Given the description of an element on the screen output the (x, y) to click on. 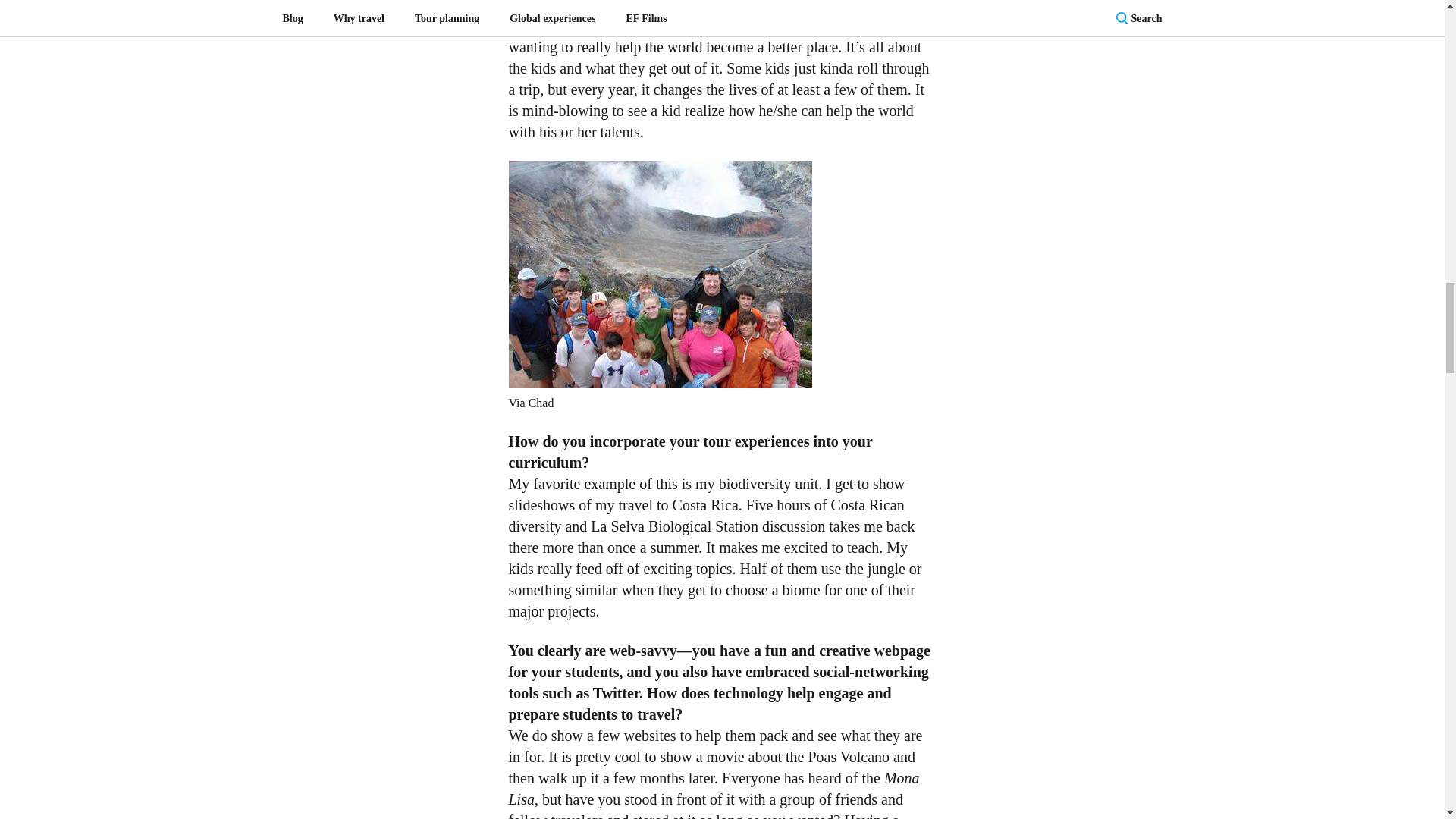
Chad Brannon - 2 (659, 274)
